Given the description of an element on the screen output the (x, y) to click on. 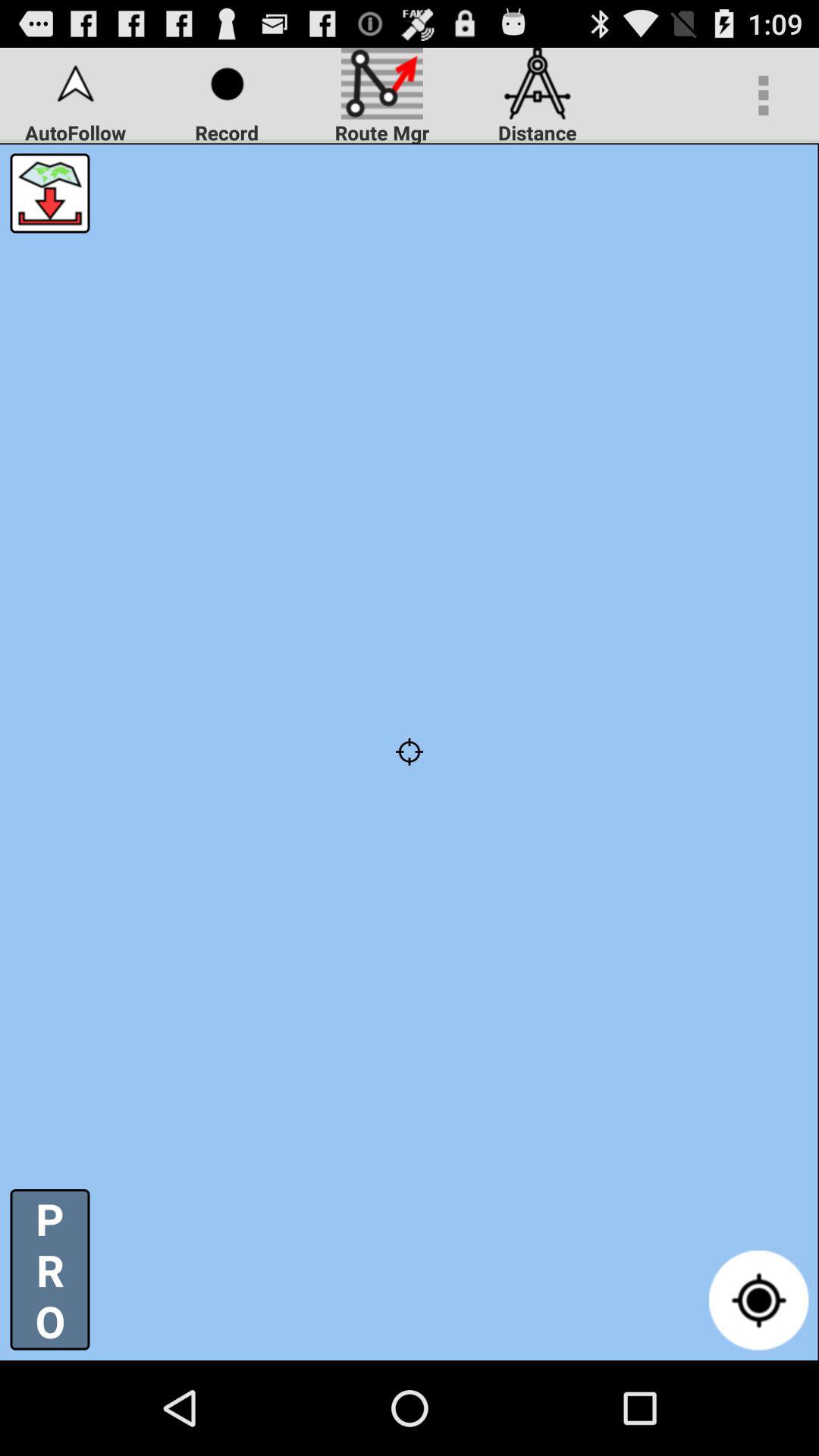
jump to the p
r
o button (49, 1269)
